Given the description of an element on the screen output the (x, y) to click on. 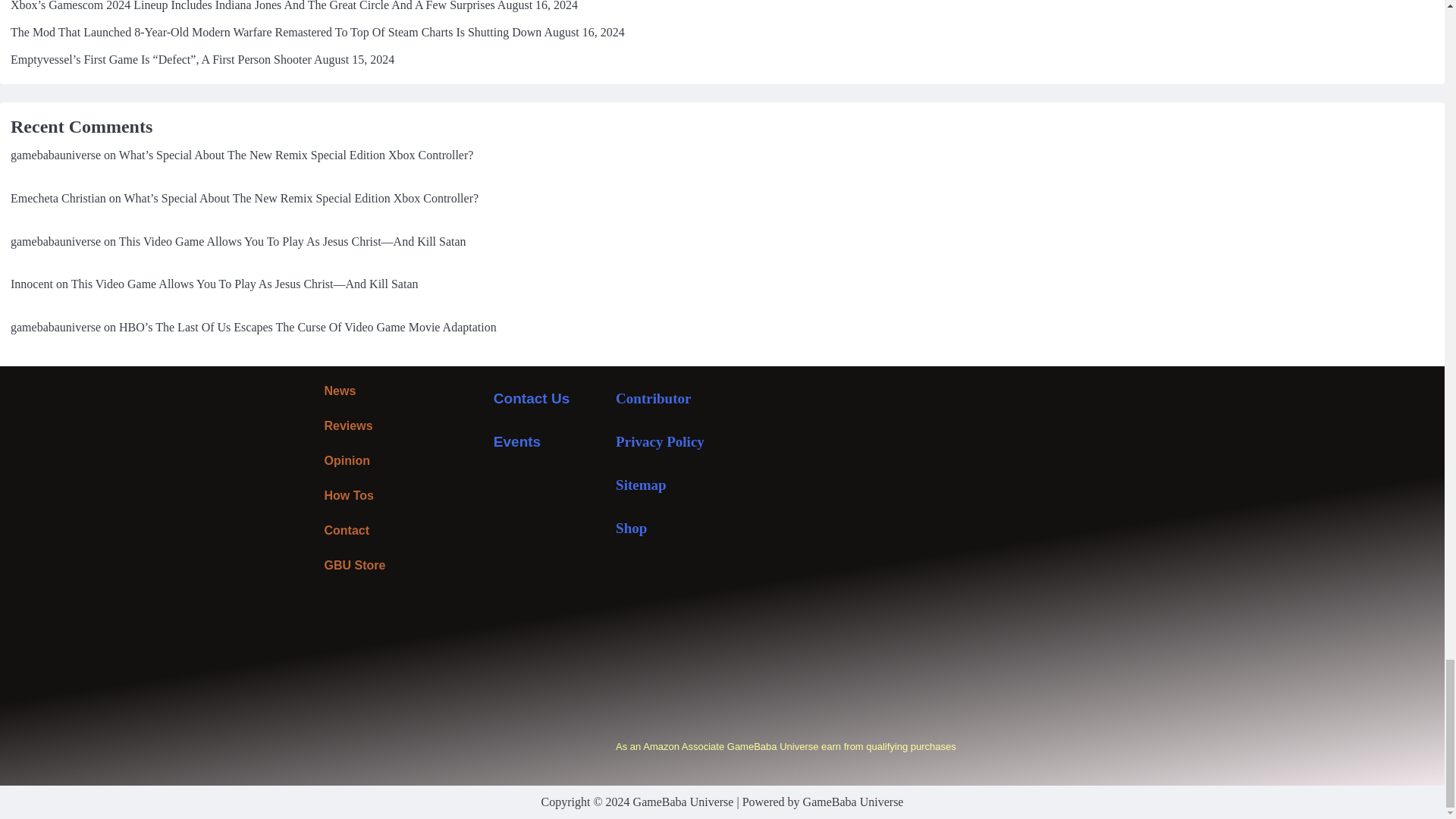
Emecheta Christian (58, 197)
gamebabauniverse (55, 241)
gamebabauniverse (55, 154)
